Given the description of an element on the screen output the (x, y) to click on. 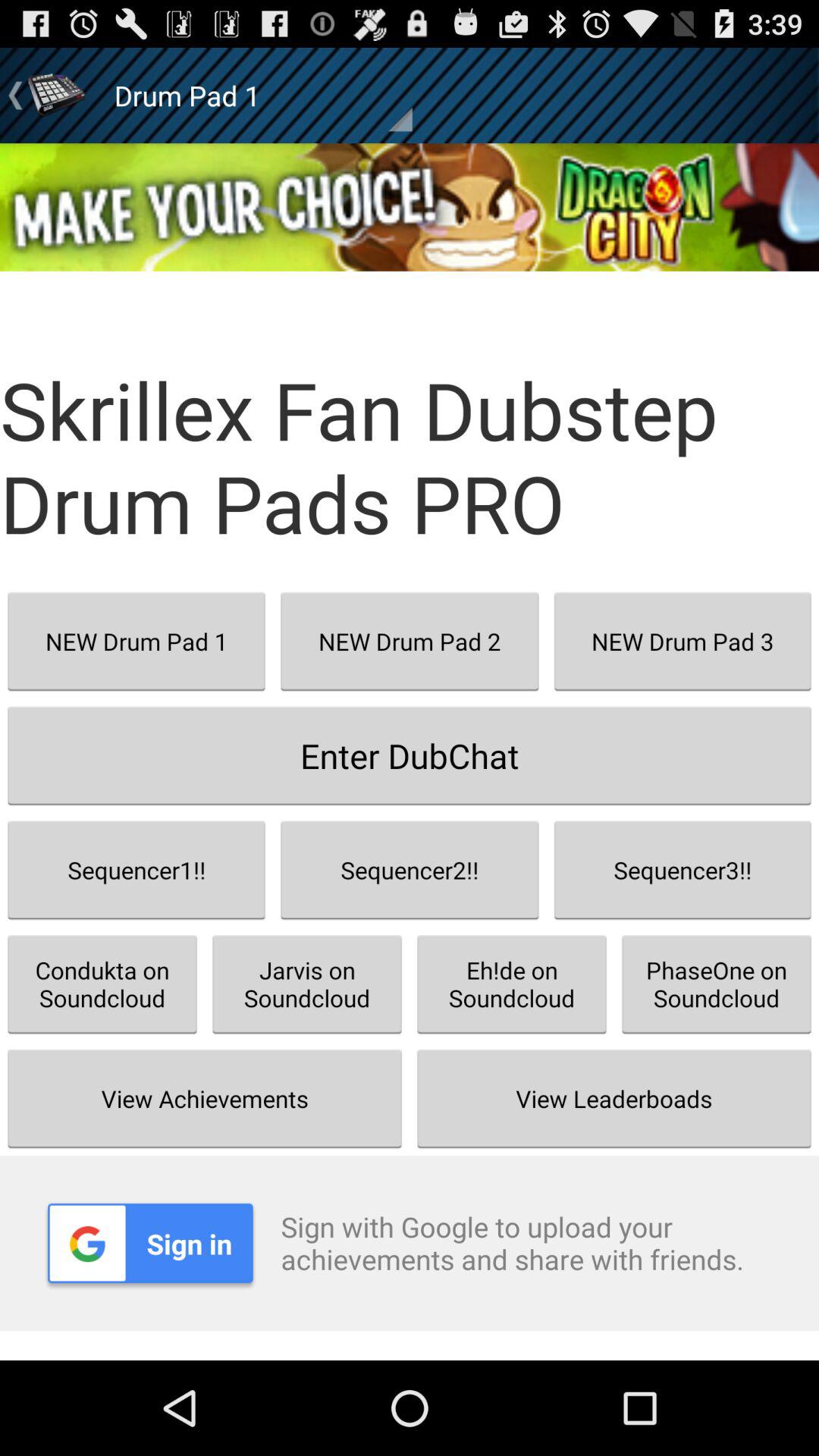
click enter dubchat icon (409, 755)
